Given the description of an element on the screen output the (x, y) to click on. 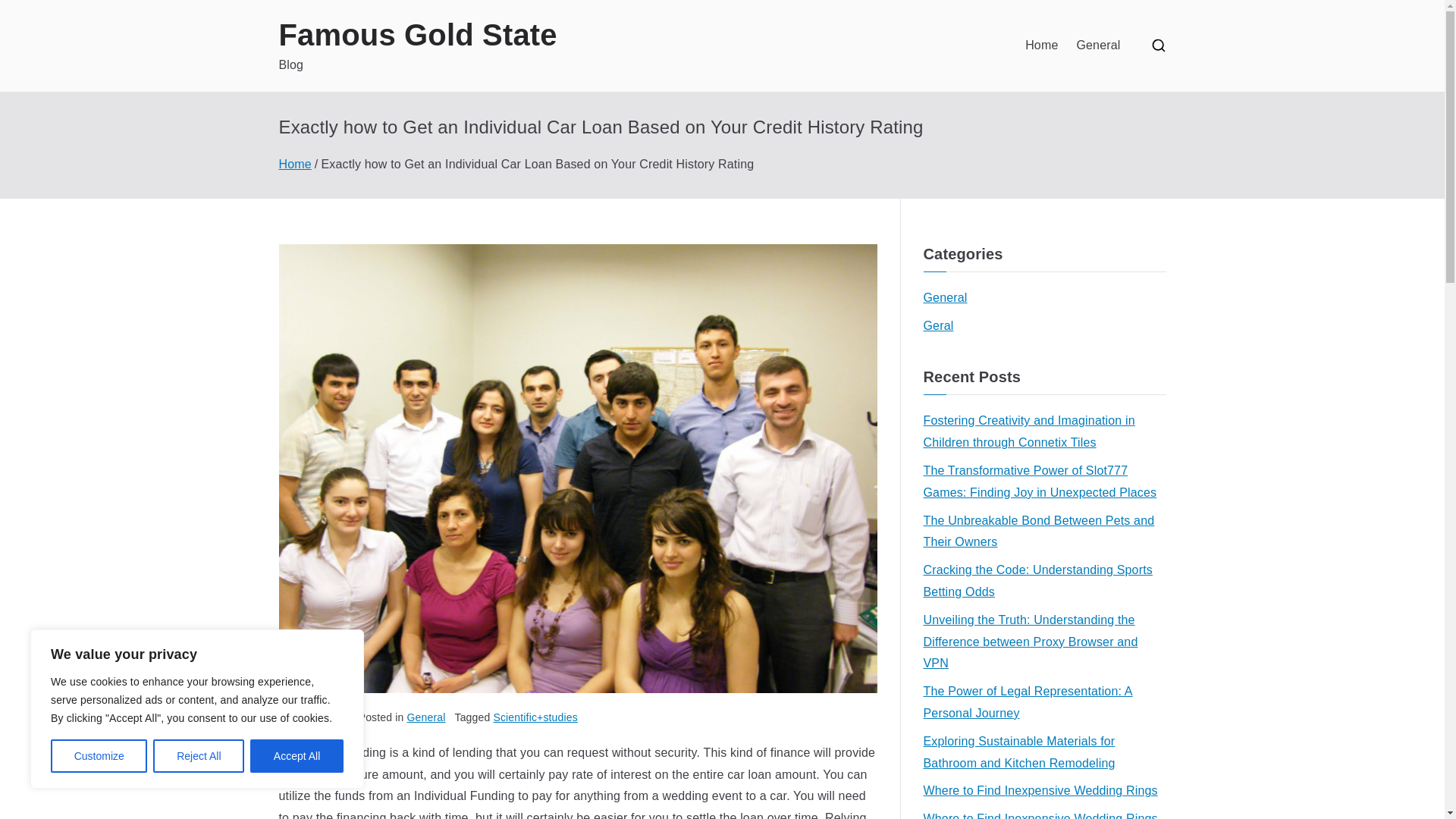
General (426, 717)
General (945, 298)
Reject All (198, 756)
Accept All (296, 756)
Famous Gold State (418, 34)
Geral (938, 326)
Home (1041, 45)
General (1097, 45)
Customize (98, 756)
Home (295, 164)
